Given the description of an element on the screen output the (x, y) to click on. 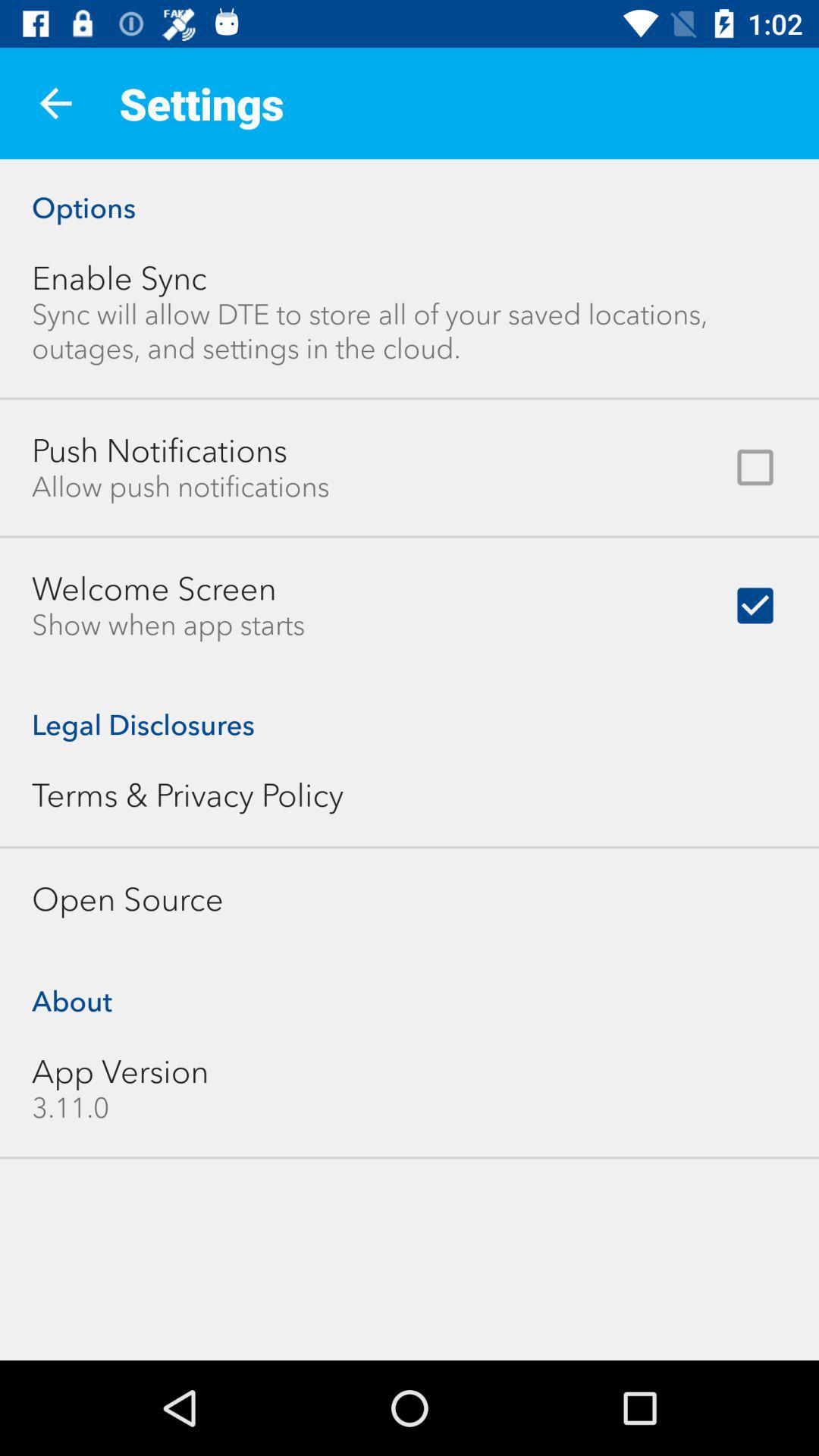
tap item above the sync will allow icon (119, 278)
